Given the description of an element on the screen output the (x, y) to click on. 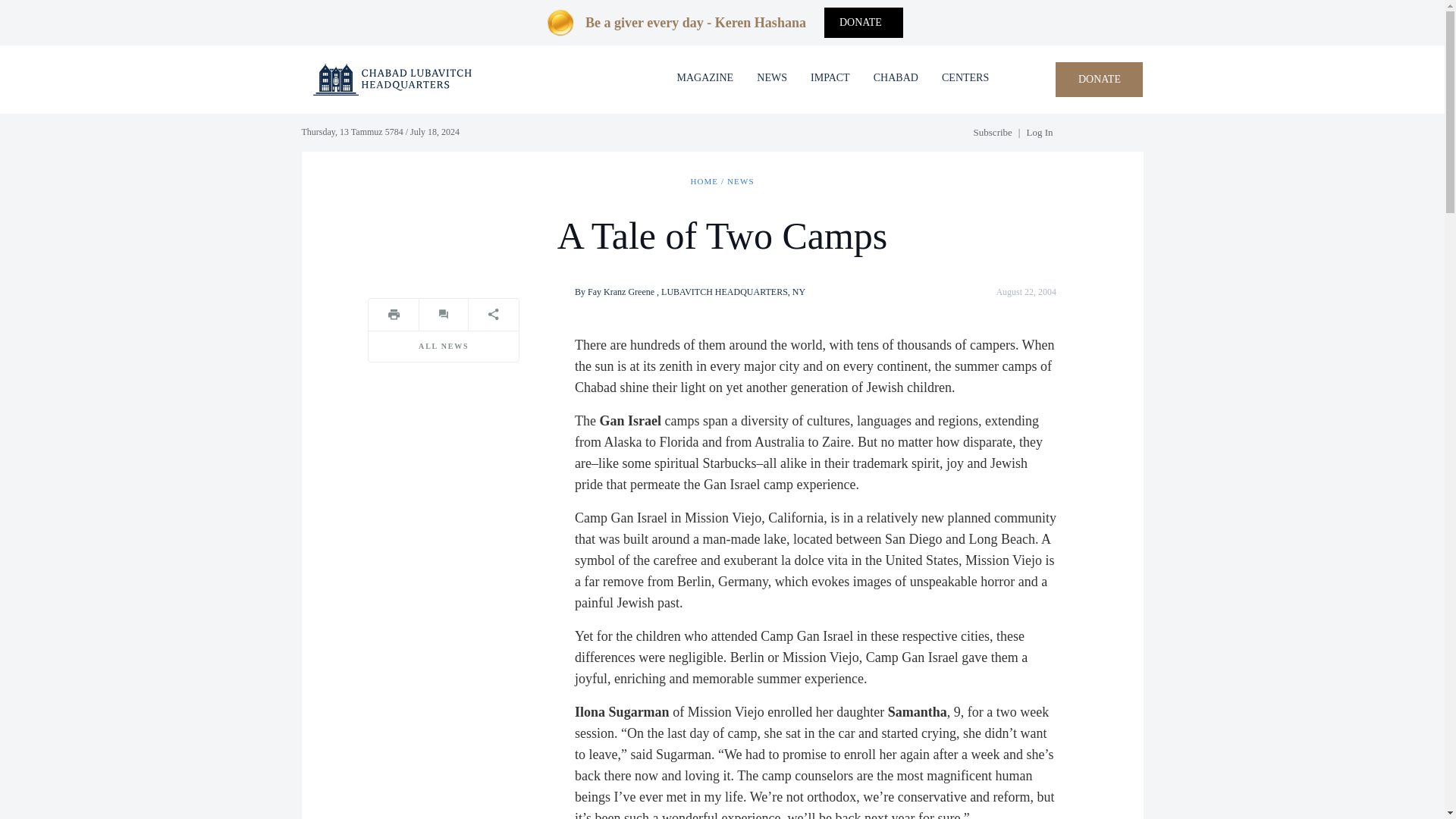
CENTERS (965, 77)
DONATE (1098, 79)
Posts by Fay Kranz Greene (620, 291)
DONATE (863, 22)
MAGAZINE (705, 77)
